Given the description of an element on the screen output the (x, y) to click on. 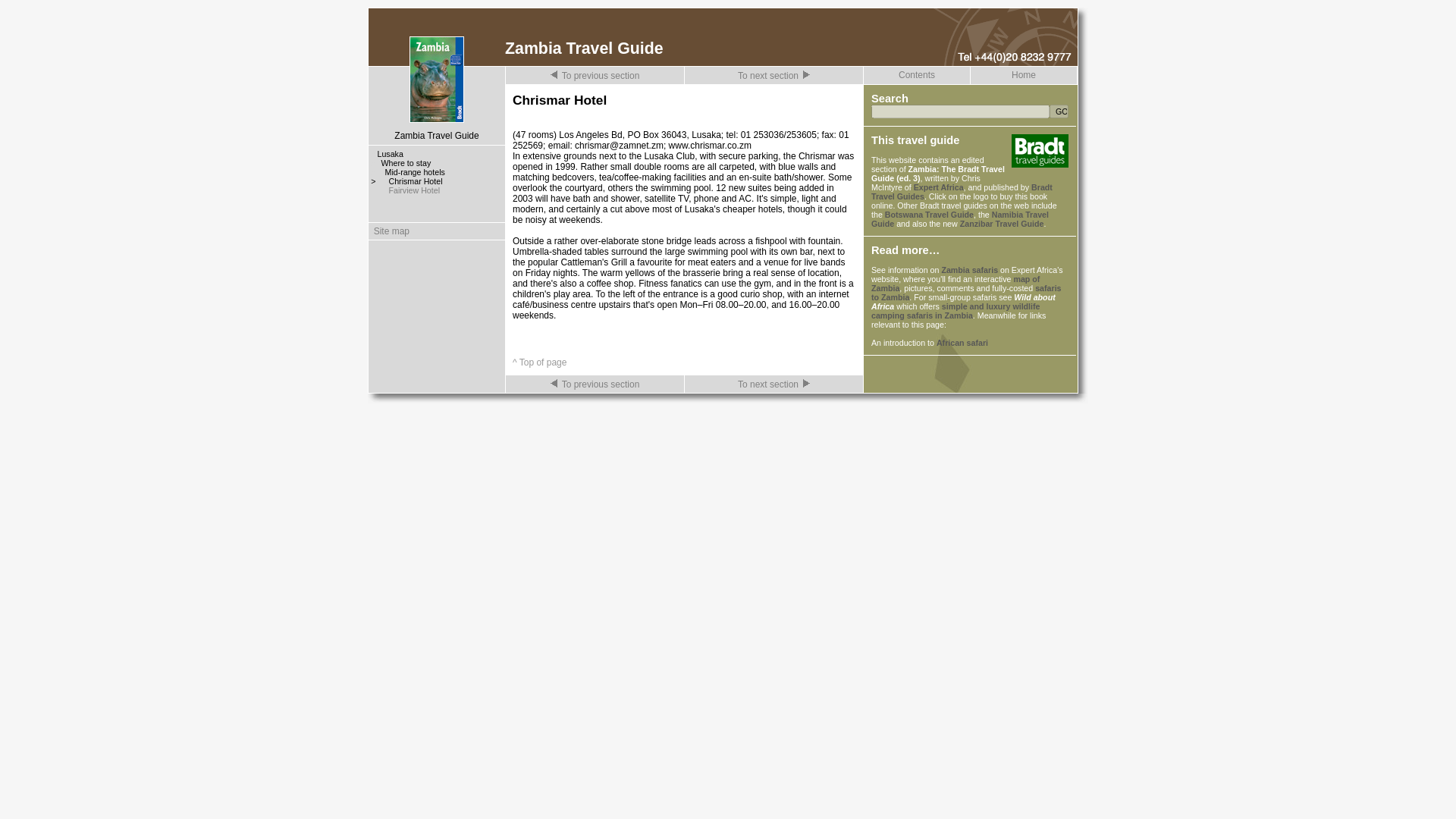
GO (1058, 110)
African safari (962, 342)
Namibia Travel Guide (959, 218)
Fairview Hotel (413, 189)
simple and luxury wildlife camping safaris in Zambia (955, 311)
safaris to Zambia (965, 292)
Mid-range hotels (415, 171)
To next section (773, 384)
Where to stay (405, 162)
Bradt Travel Guides (961, 191)
Zambia Travel Guide (436, 135)
Expert Africa (938, 186)
Zanzibar Travel Guide (1001, 223)
To previous section (594, 75)
Chrismar Hotel (415, 180)
